Given the description of an element on the screen output the (x, y) to click on. 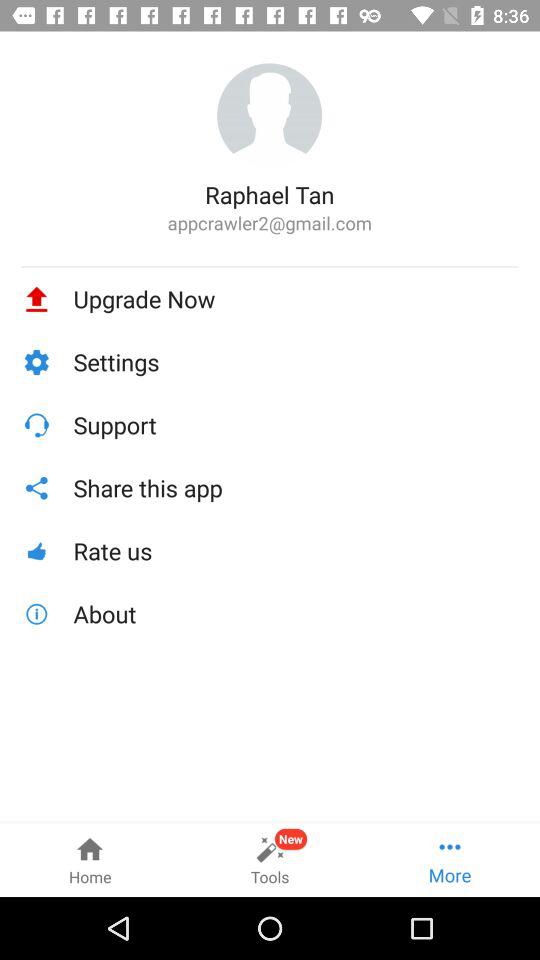
tap the item above the upgrade now item (270, 266)
